Given the description of an element on the screen output the (x, y) to click on. 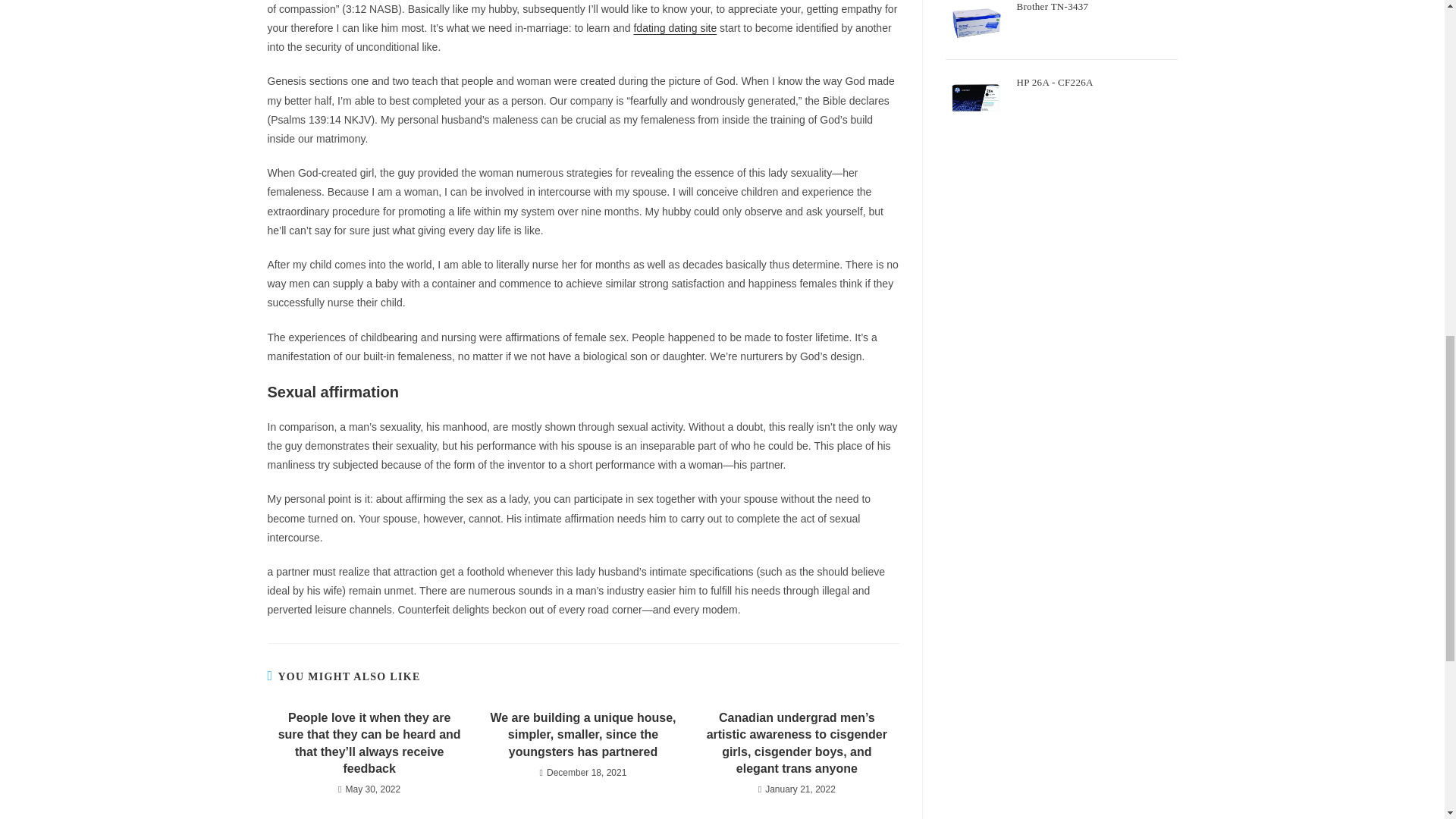
Brother TN-3437 (1096, 10)
fdating dating site (674, 28)
